Given the description of an element on the screen output the (x, y) to click on. 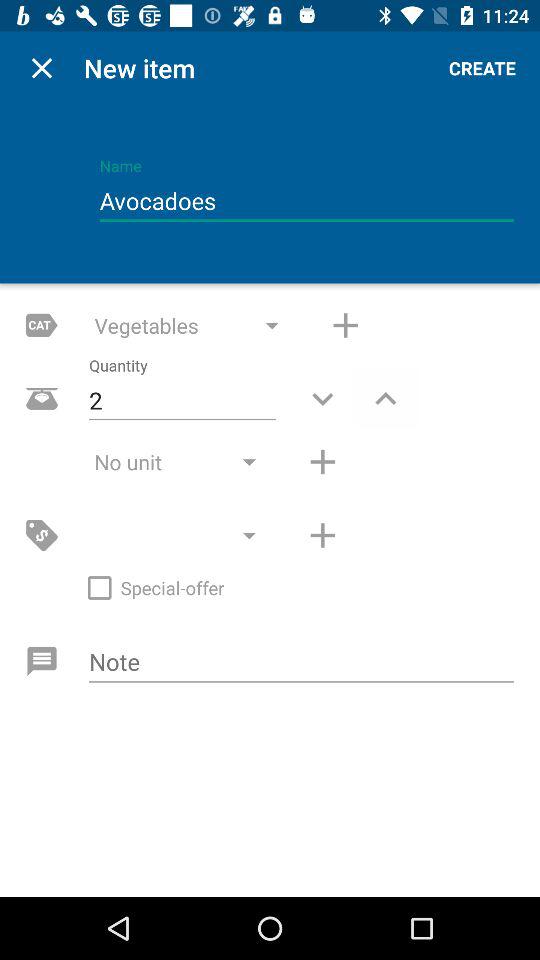
go to increase (385, 398)
